Given the description of an element on the screen output the (x, y) to click on. 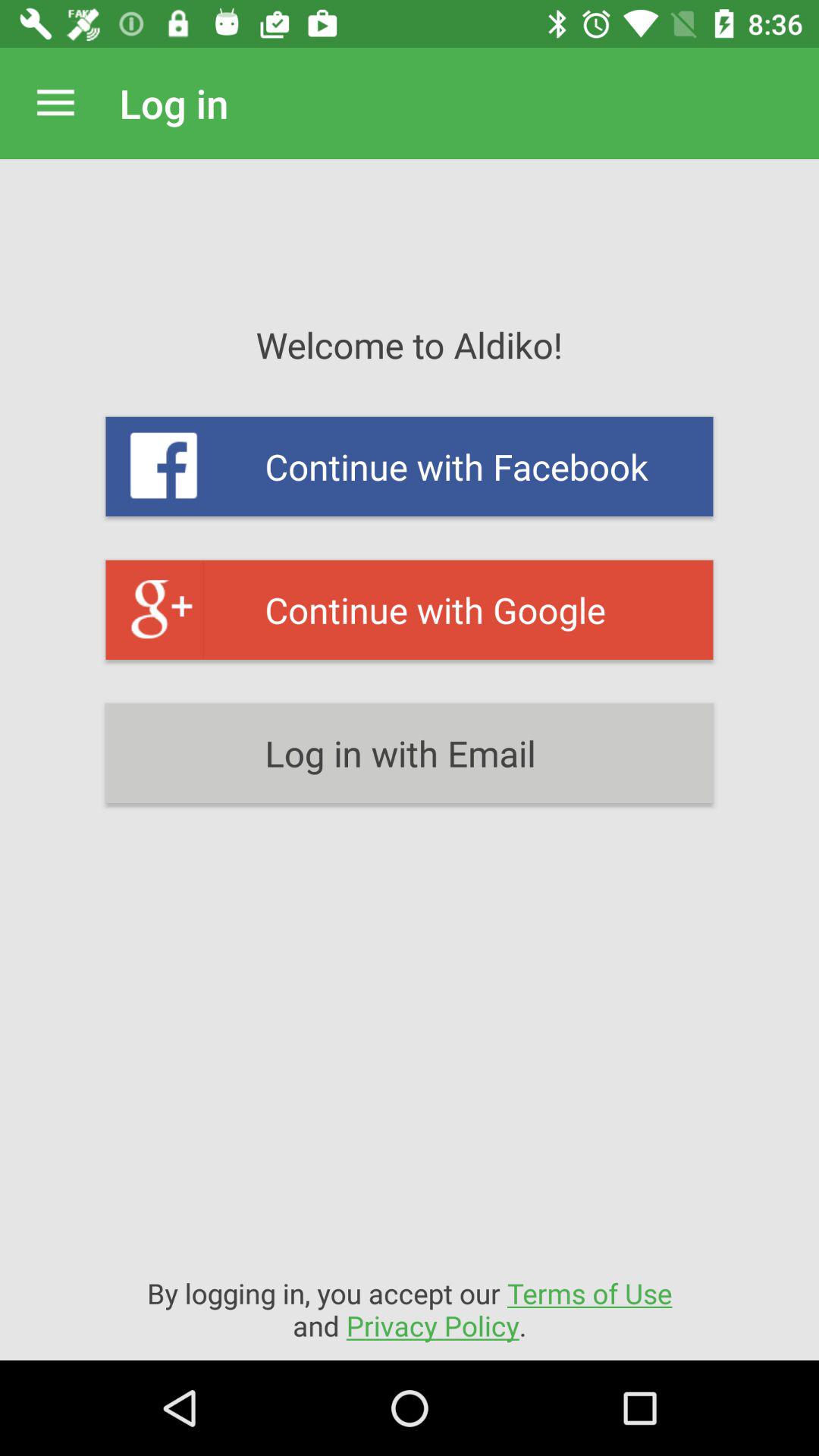
turn on icon to the left of log in item (55, 103)
